Given the description of an element on the screen output the (x, y) to click on. 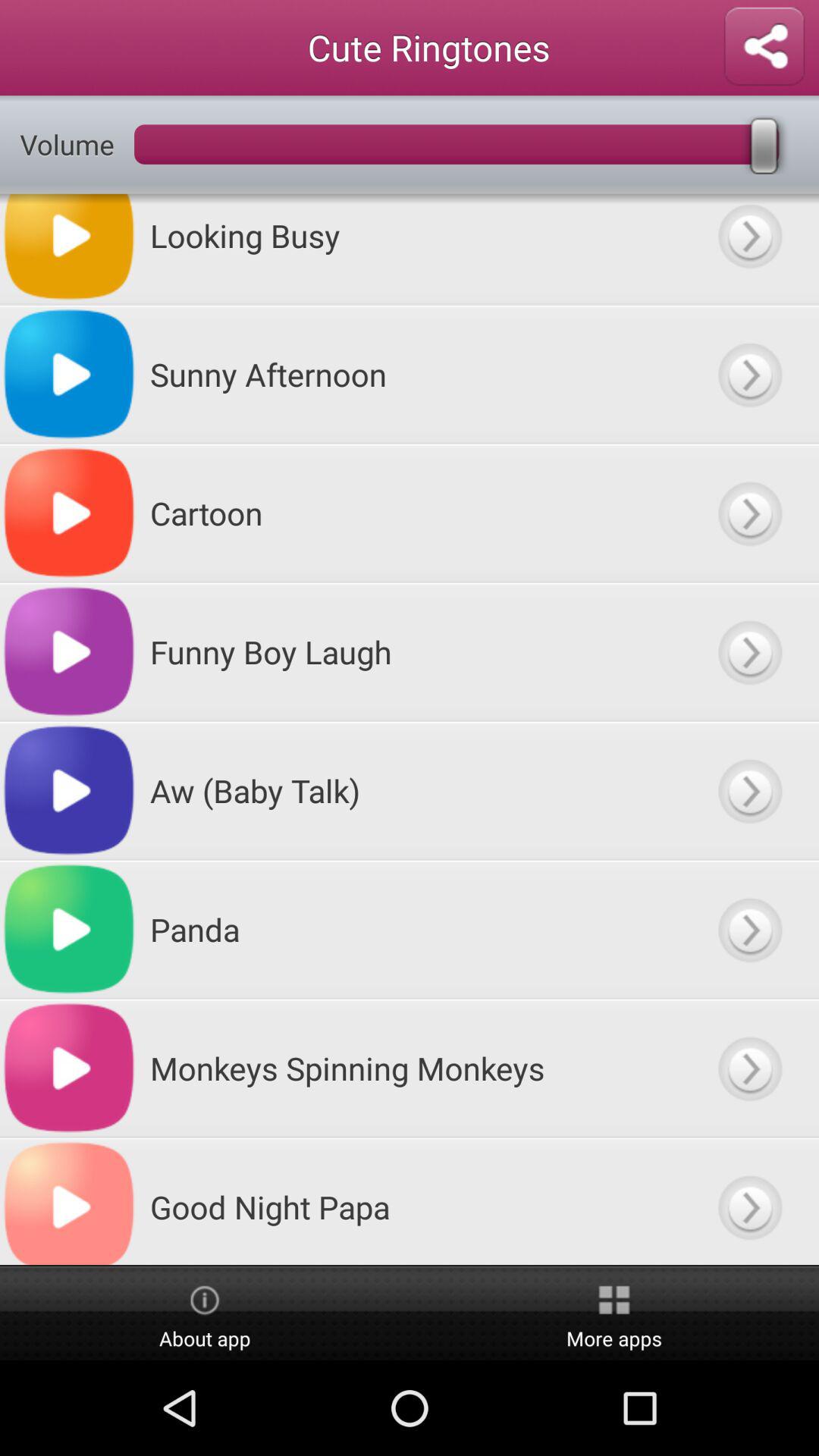
open item description (749, 651)
